Given the description of an element on the screen output the (x, y) to click on. 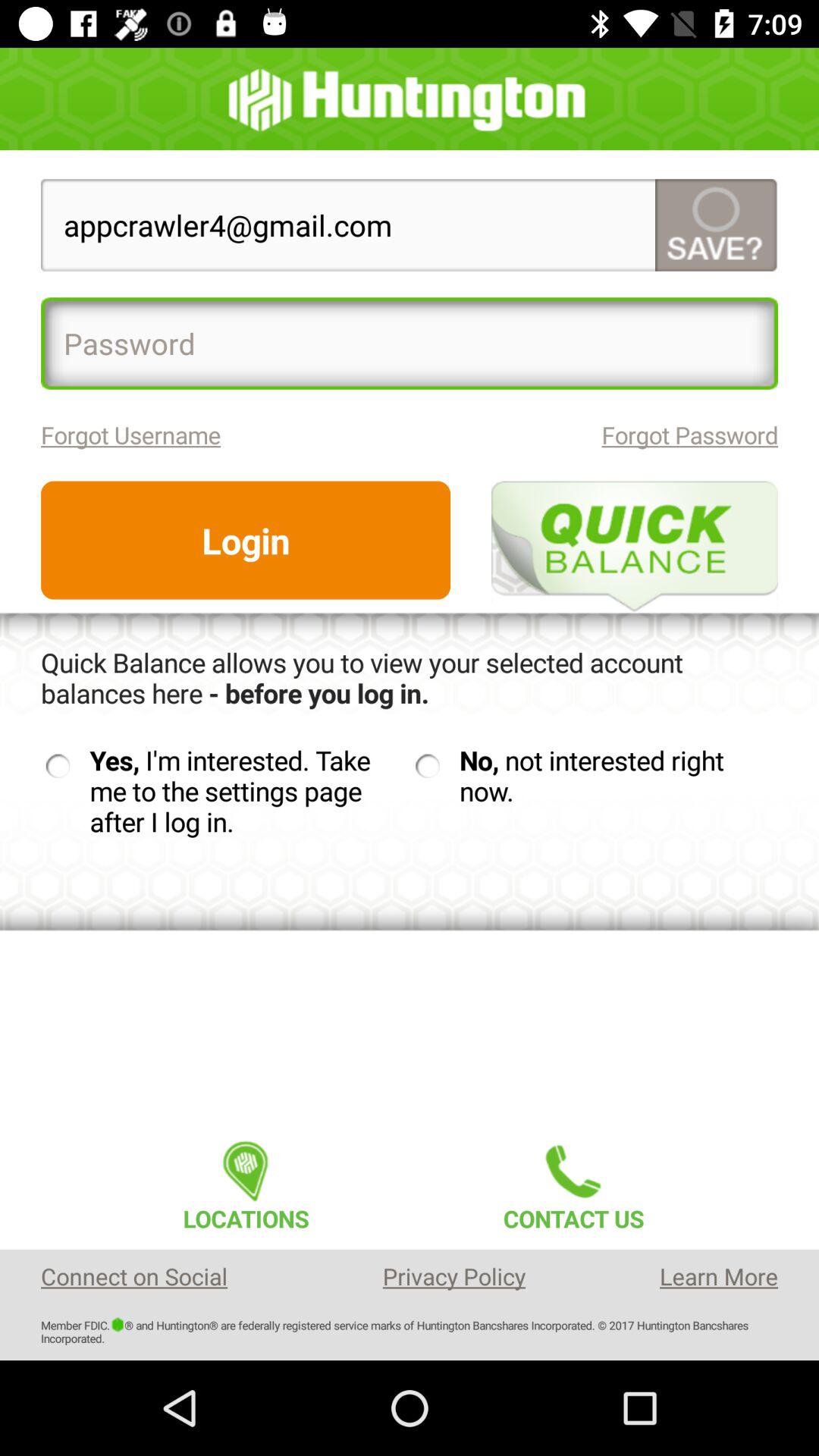
turn on item above the connect on social (245, 1181)
